Given the description of an element on the screen output the (x, y) to click on. 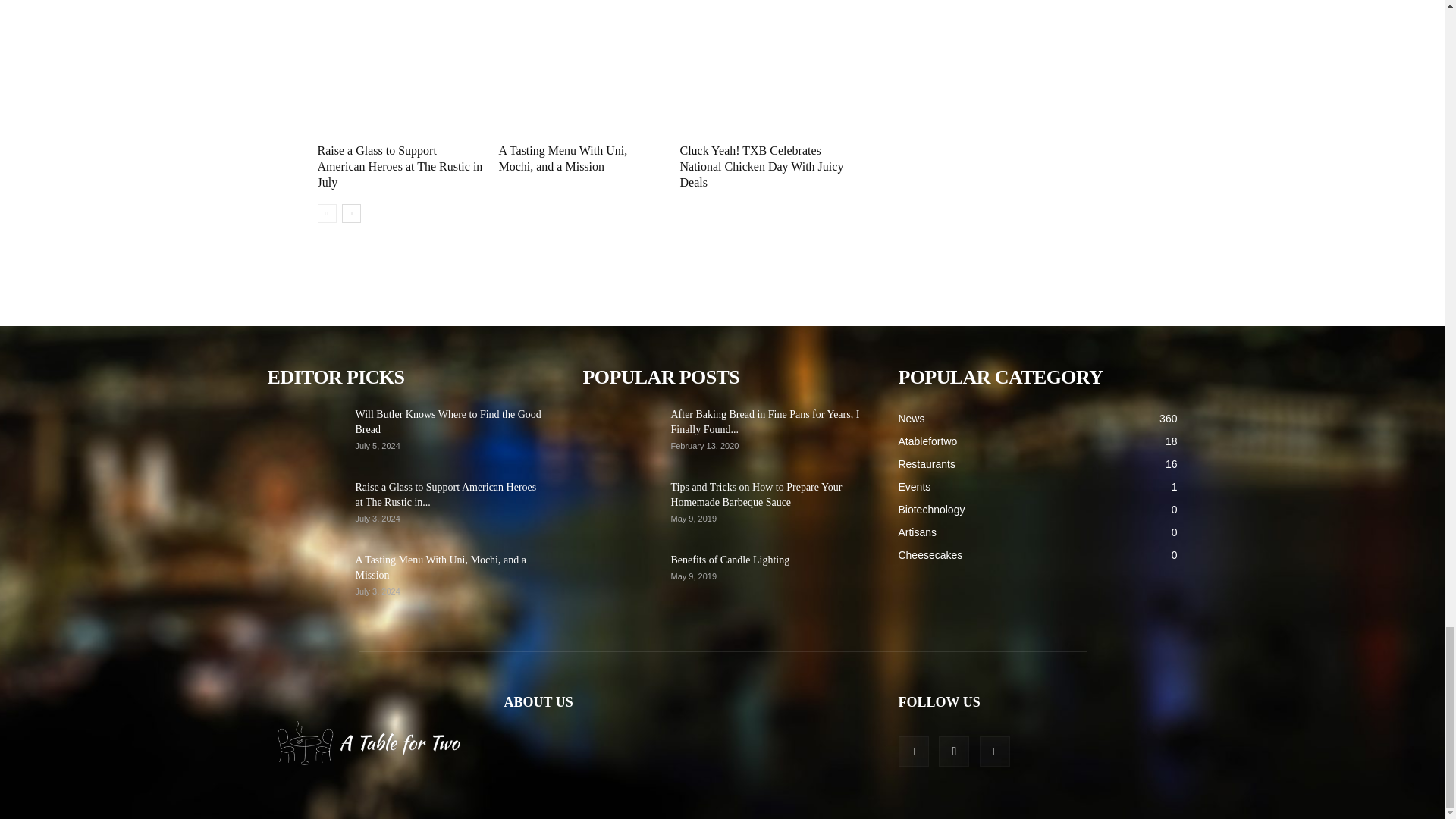
RELATED ARTICLES (389, 2)
MORE FROM AUTHOR (557, 2)
Will Butler Knows Where to Find the Good Bread (304, 433)
A Tasting Menu With Uni, Mochi, and a Mission (580, 81)
Will Butler Knows Where to Find the Good Bread (447, 421)
A Tasting Menu With Uni, Mochi, and a Mission (562, 158)
A Tasting Menu With Uni, Mochi, and a Mission (562, 158)
